Given the description of an element on the screen output the (x, y) to click on. 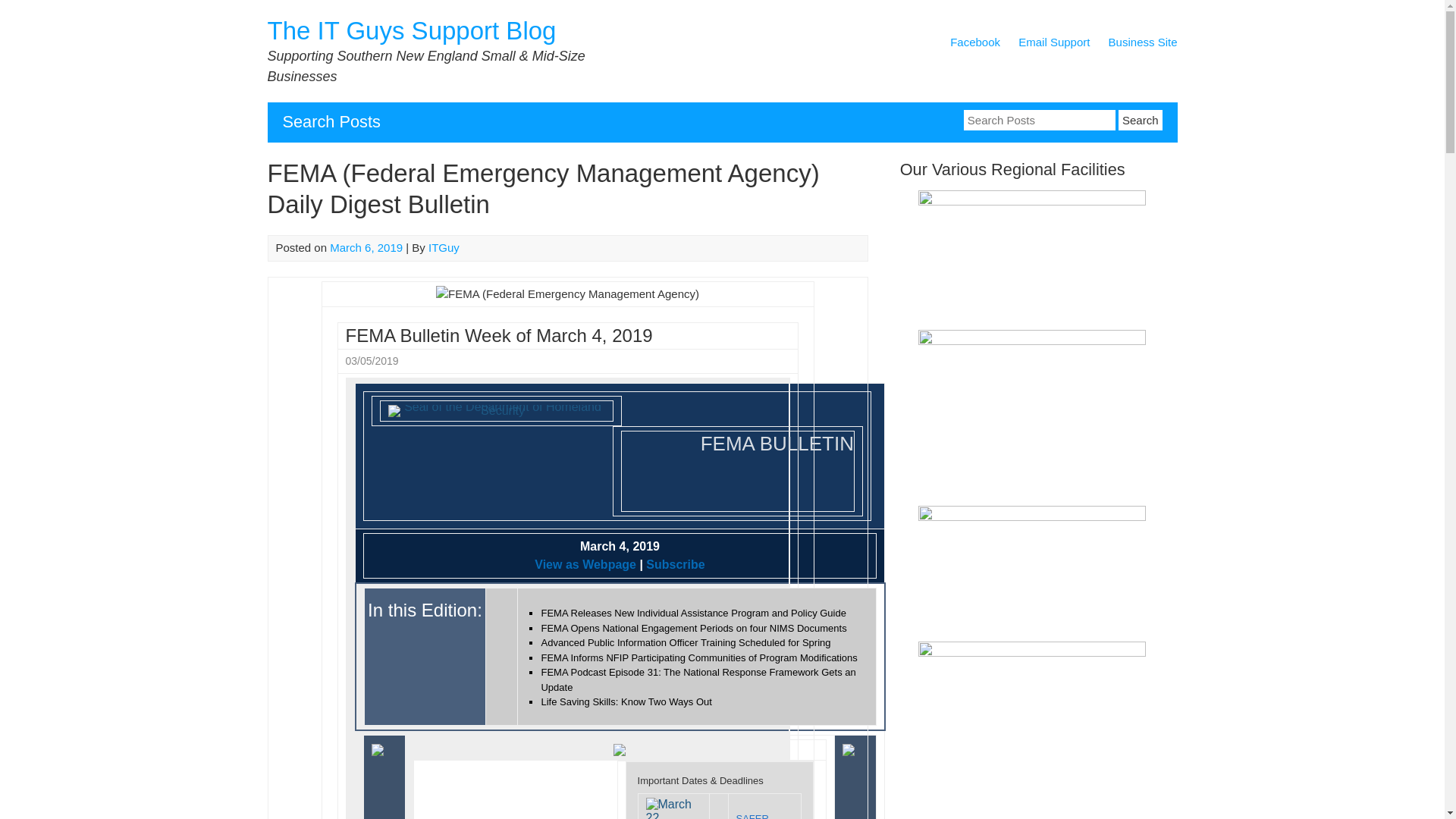
Facebook (975, 44)
Subscribe (673, 563)
March 6, 2019 (366, 246)
Business Site (1142, 44)
Life Saving Skills: Know Two Ways Out (625, 701)
The IT Guys Support Blog (411, 30)
Search (1139, 119)
ITGuy (444, 246)
View as Webpage (585, 563)
Email Support (1053, 44)
Search (1139, 119)
